Given the description of an element on the screen output the (x, y) to click on. 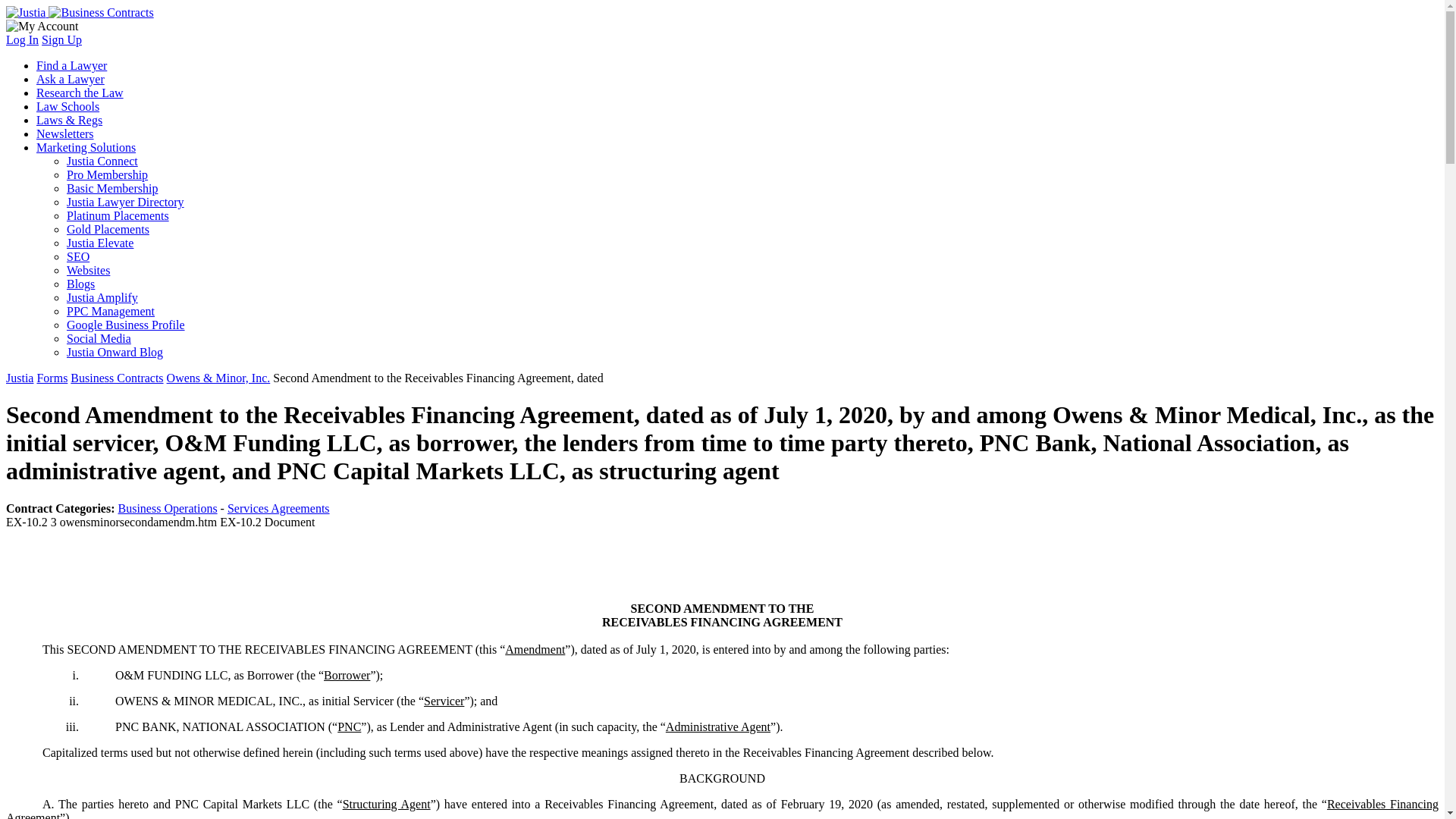
Websites (88, 269)
Justia Onward Blog (114, 351)
PPC Management (110, 310)
Justia (19, 377)
Sign Up (61, 39)
Blogs (80, 283)
Platinum Placements (117, 215)
SEO (77, 256)
Social Media (98, 338)
Marketing Solutions (85, 146)
Justia Lawyer Directory (125, 201)
Forms (51, 377)
Pro Membership (107, 174)
Business Contracts (116, 377)
Basic Membership (111, 187)
